Given the description of an element on the screen output the (x, y) to click on. 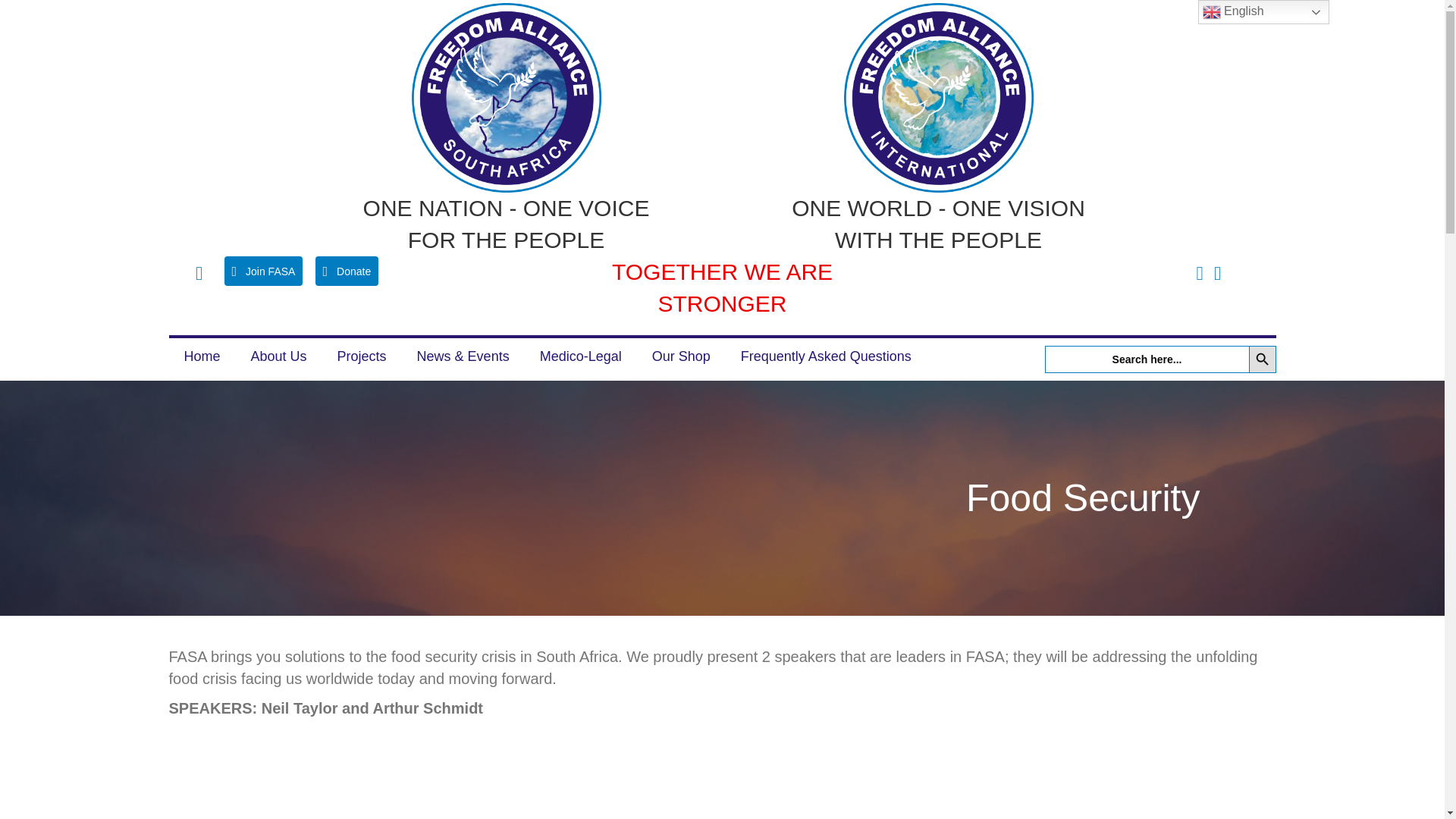
Home (201, 356)
Projects (362, 356)
878306ef-100b-4f86-baf7-9e1f114161b7 (937, 97)
About Us (278, 356)
81480c54-a7f5-4335-9cba-1c75999ba335 (504, 97)
THE (471, 773)
Donate (346, 270)
Join FASA (263, 270)
Medico-Legal (580, 356)
